Given the description of an element on the screen output the (x, y) to click on. 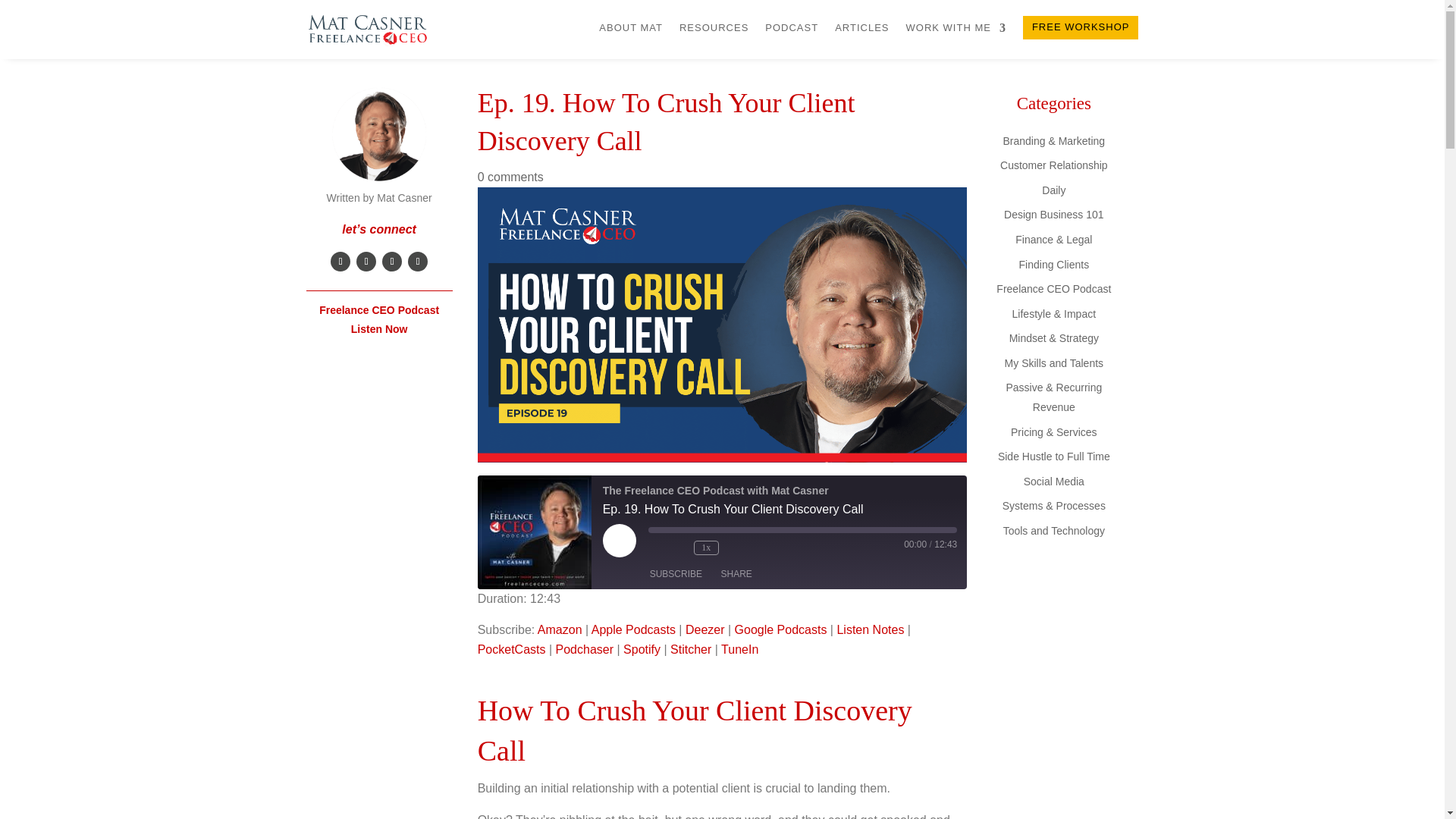
The Freelance CEO Podcast with Mat Casner (534, 531)
Play (619, 540)
FREE WORKSHOP (1080, 27)
WORK WITH ME (955, 30)
Play Episode (619, 540)
Follow on Youtube (417, 261)
Seek (802, 530)
Follow on LinkedIn (365, 261)
ARTICLES (861, 30)
SUBSCRIBE (676, 573)
1x (706, 547)
Rewind 10 Seconds (678, 547)
mat-headshot-color-circle (379, 134)
ABOUT MAT (630, 30)
